Given the description of an element on the screen output the (x, y) to click on. 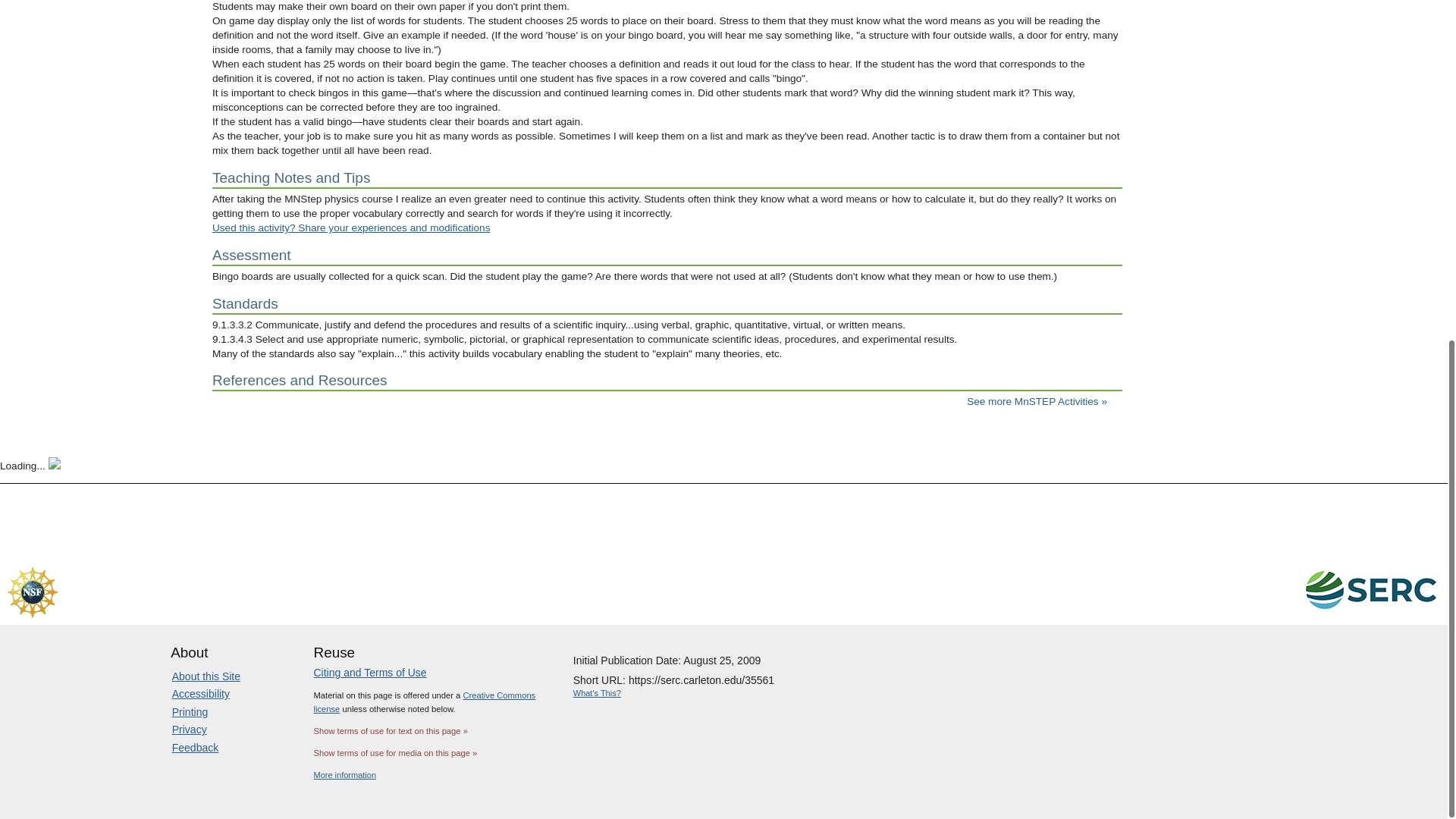
Privacy (188, 729)
Used this activity? Share your experiences and modifications (350, 227)
More information (345, 774)
Accessibility (200, 693)
About this Site (205, 676)
Feedback (194, 747)
What's This? (597, 692)
Printing (189, 711)
Citing and Terms of Use (370, 672)
Creative Commons license (424, 702)
